Given the description of an element on the screen output the (x, y) to click on. 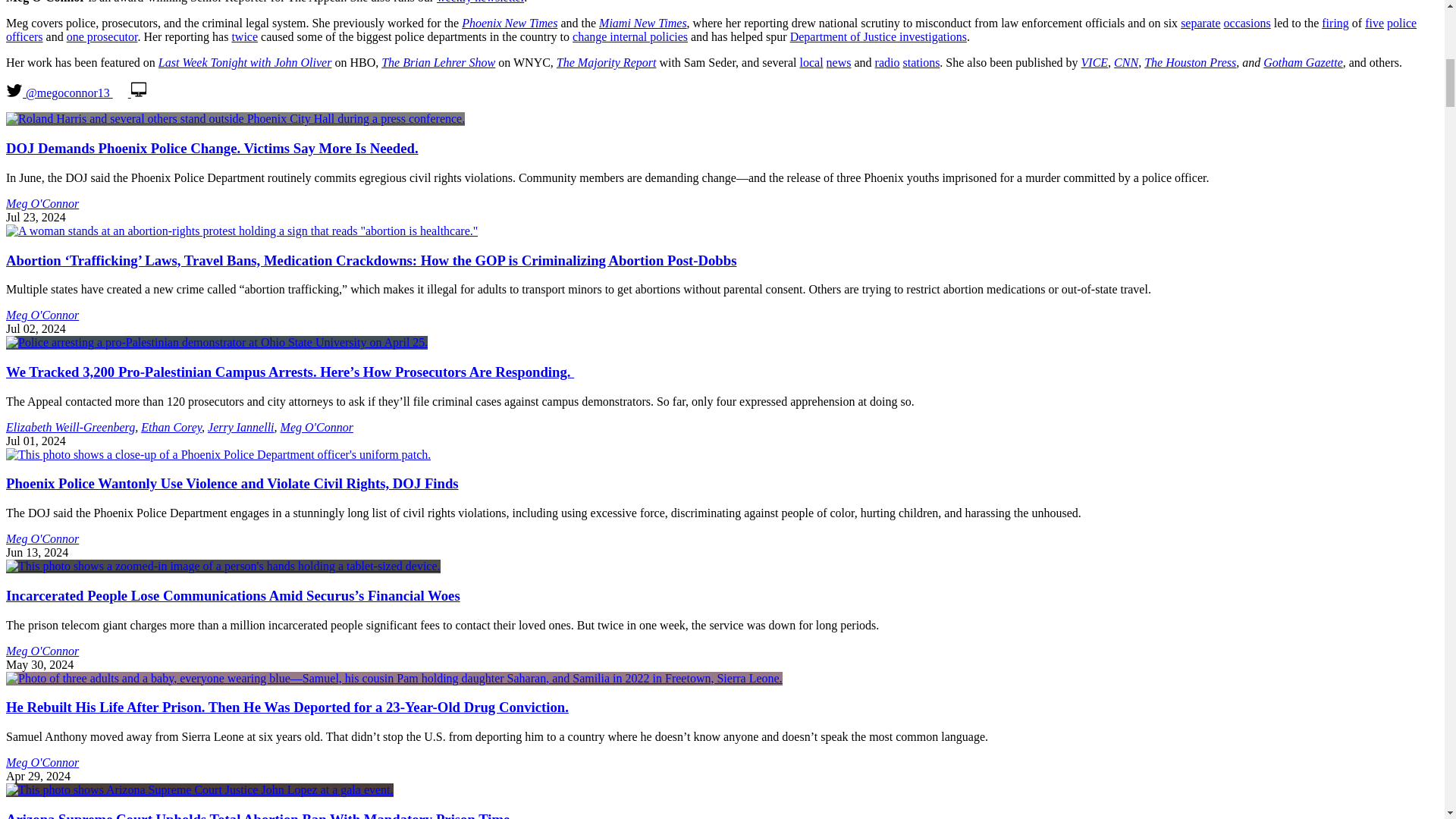
Miami New Times (642, 22)
separate (1200, 22)
firing (1335, 22)
Phoenix New Times (509, 22)
occasions (1247, 22)
weekly newsletter (480, 2)
